Given the description of an element on the screen output the (x, y) to click on. 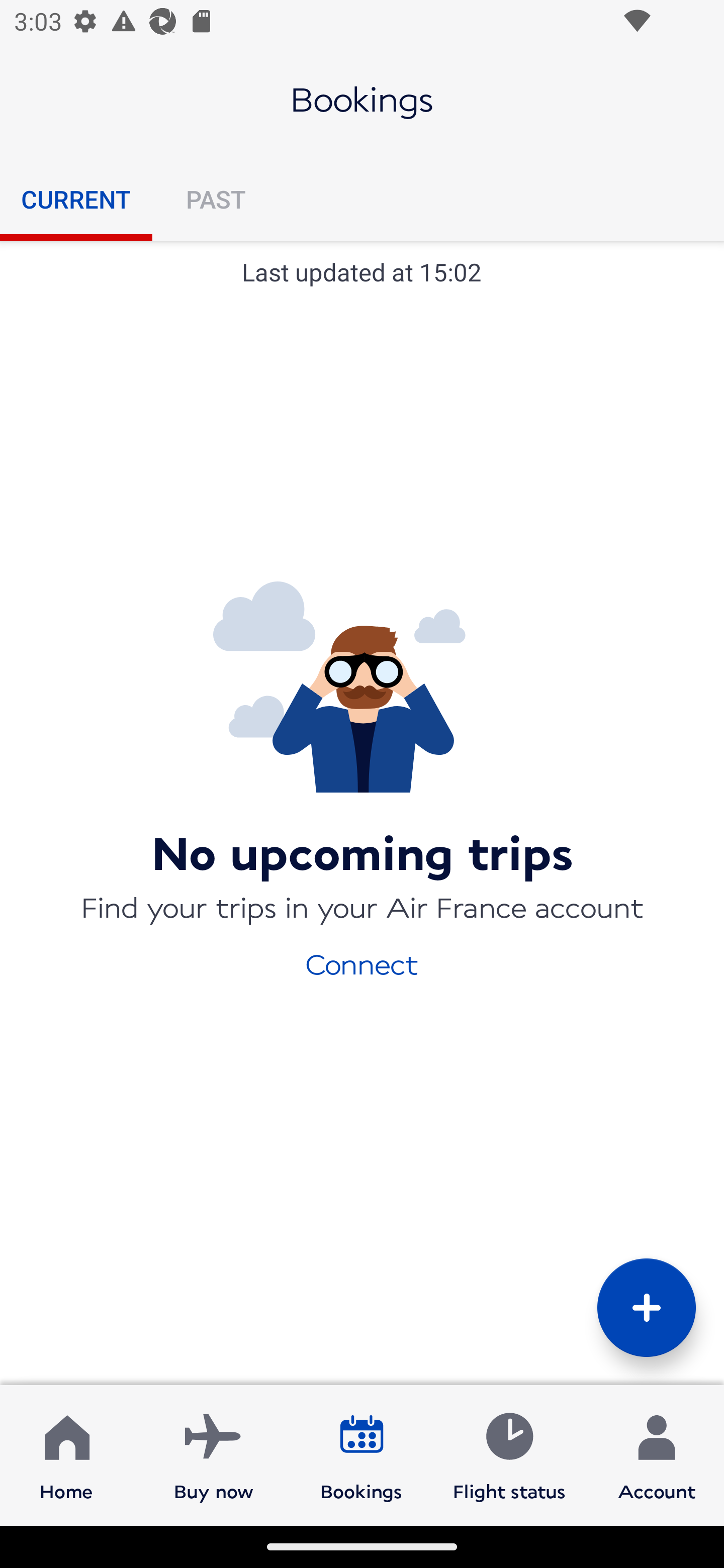
PAST (215, 198)
Connect (361, 963)
Home (66, 1454)
Buy now (213, 1454)
Flight status (509, 1454)
Account (657, 1454)
